Given the description of an element on the screen output the (x, y) to click on. 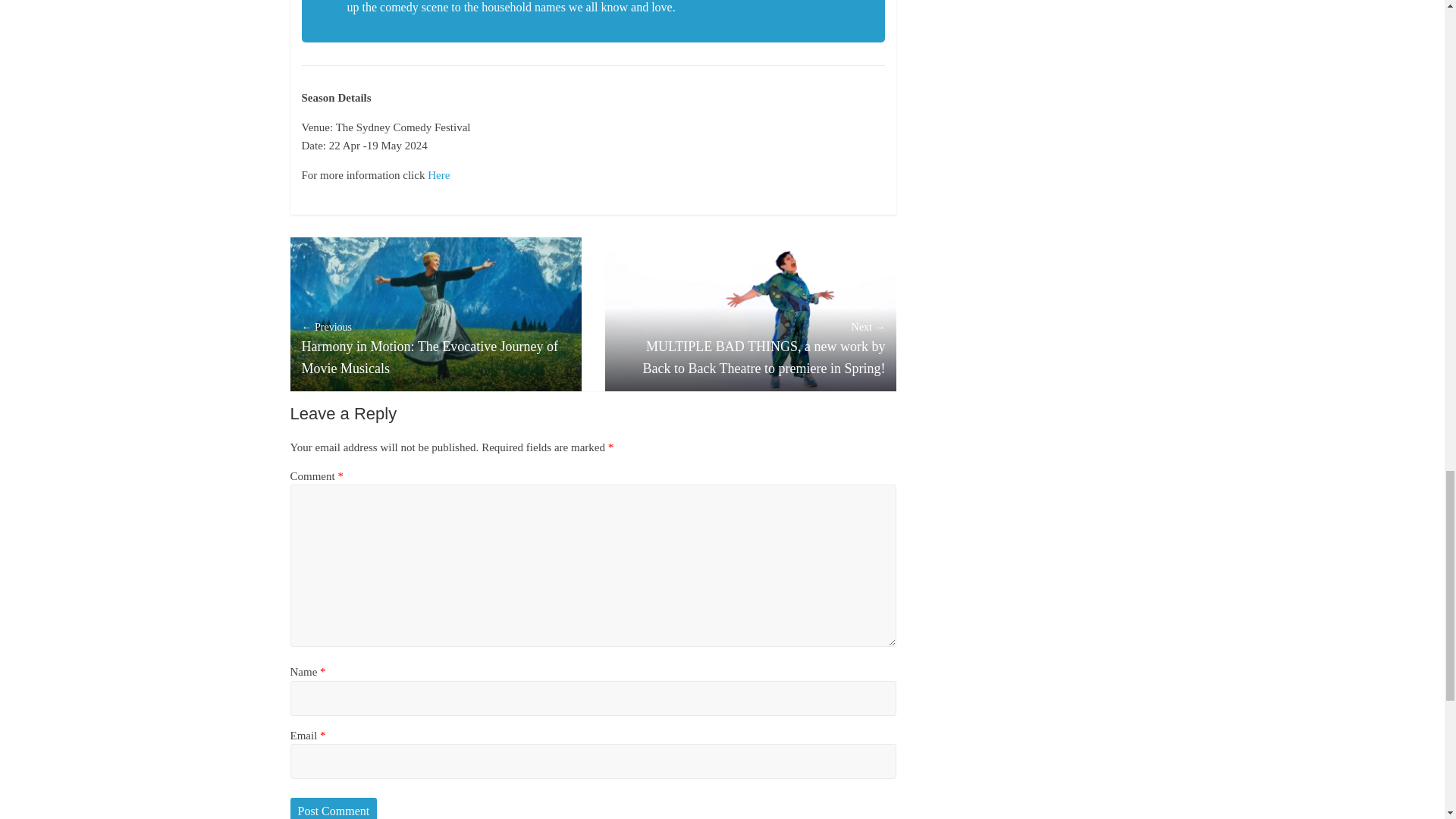
Here (438, 174)
Post Comment (333, 808)
Post Comment (333, 808)
